Given the description of an element on the screen output the (x, y) to click on. 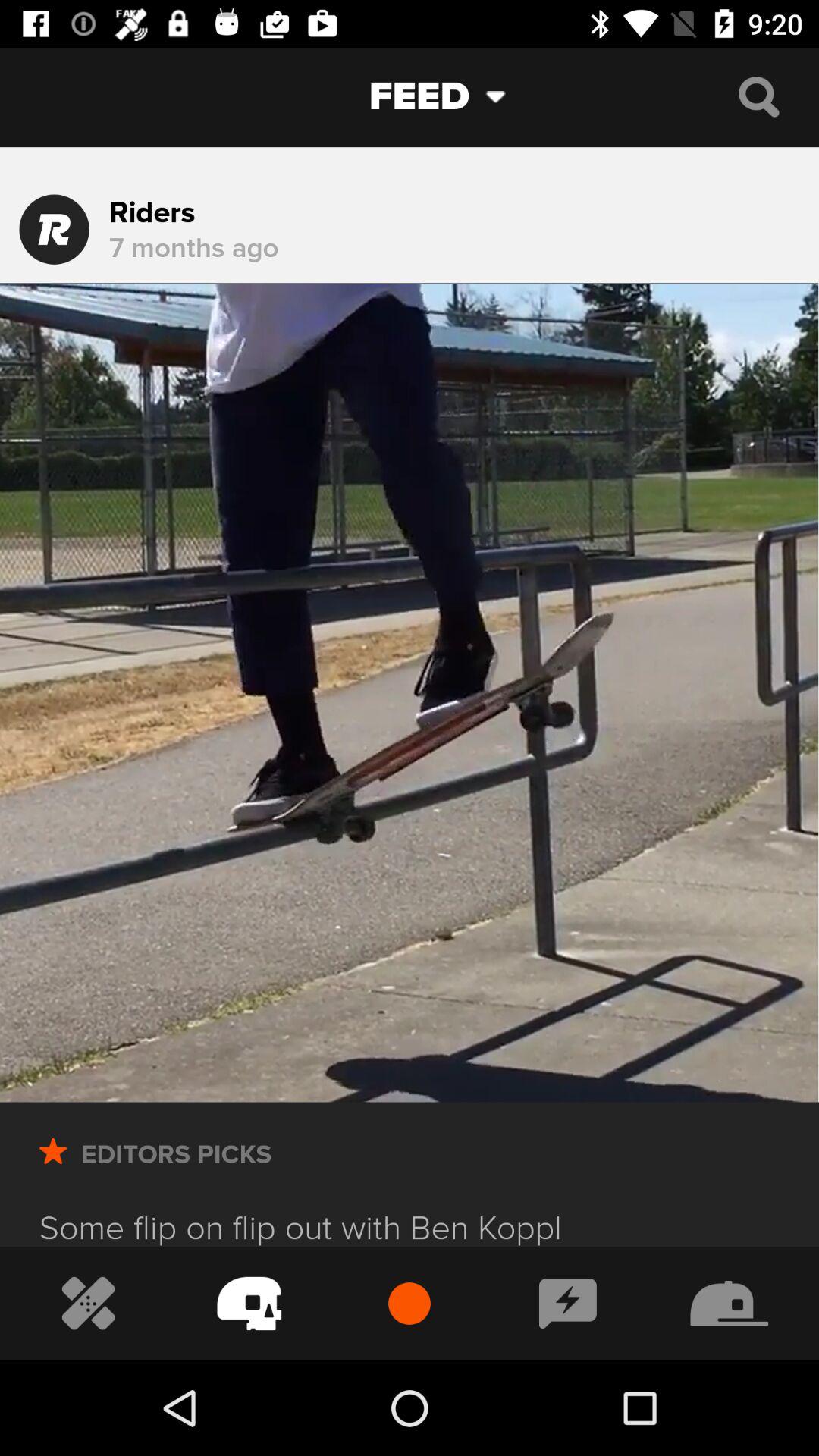
get in touch (567, 1303)
